Given the description of an element on the screen output the (x, y) to click on. 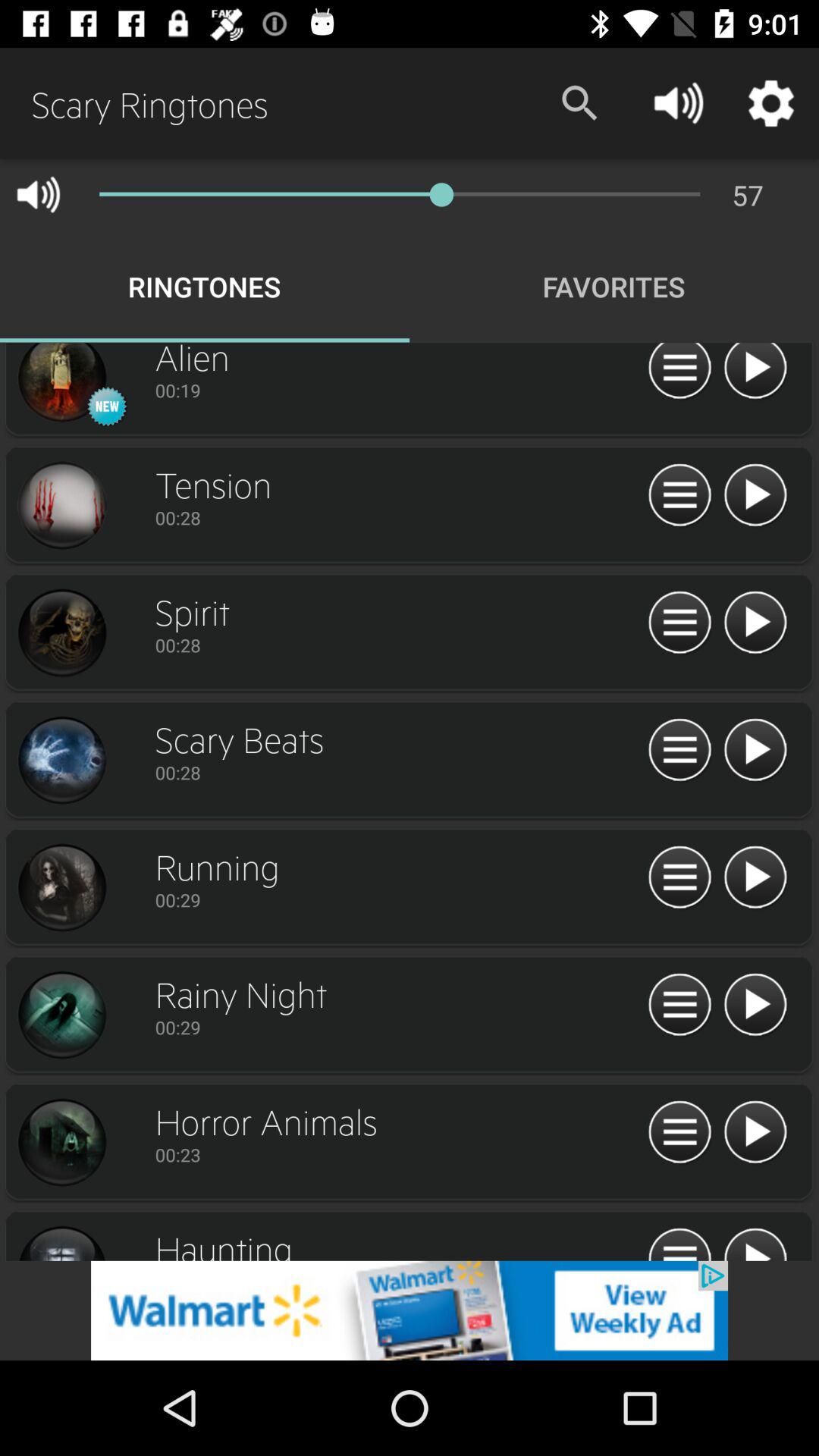
profile photo (61, 1015)
